Given the description of an element on the screen output the (x, y) to click on. 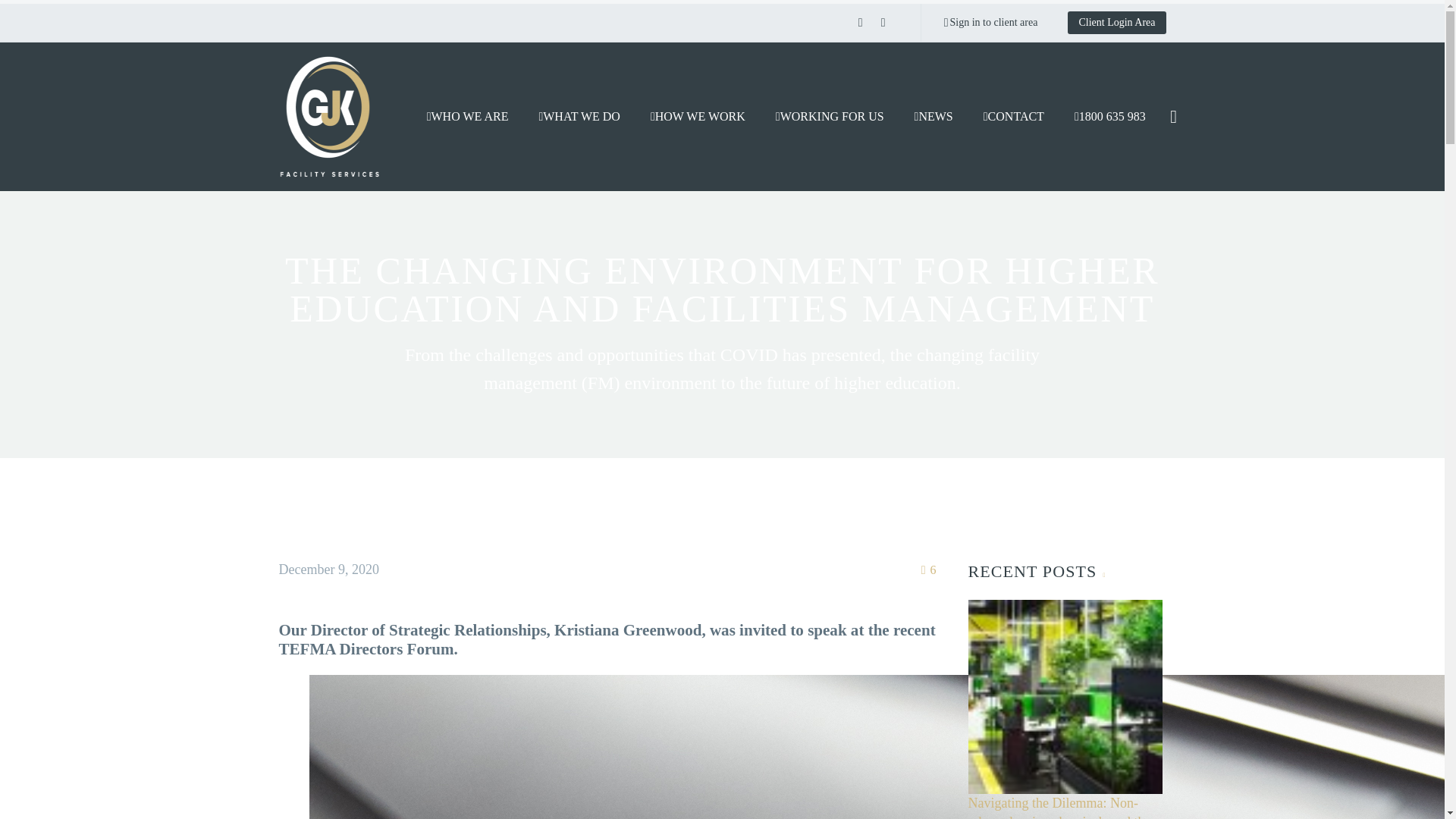
NEWS Element type: text (933, 116)
WORKING FOR US Element type: text (829, 116)
Sign in to client area Element type: text (991, 22)
WHO WE ARE Element type: text (467, 116)
Facebook Element type: hover (860, 22)
Client Login Area Element type: text (1116, 22)
HOW WE WORK Element type: text (697, 116)
1800 635 983 Element type: text (1110, 116)
WHAT WE DO Element type: text (578, 116)
CONTACT Element type: text (1013, 116)
6 Element type: text (928, 569)
LinkedIn Element type: hover (883, 22)
